Given the description of an element on the screen output the (x, y) to click on. 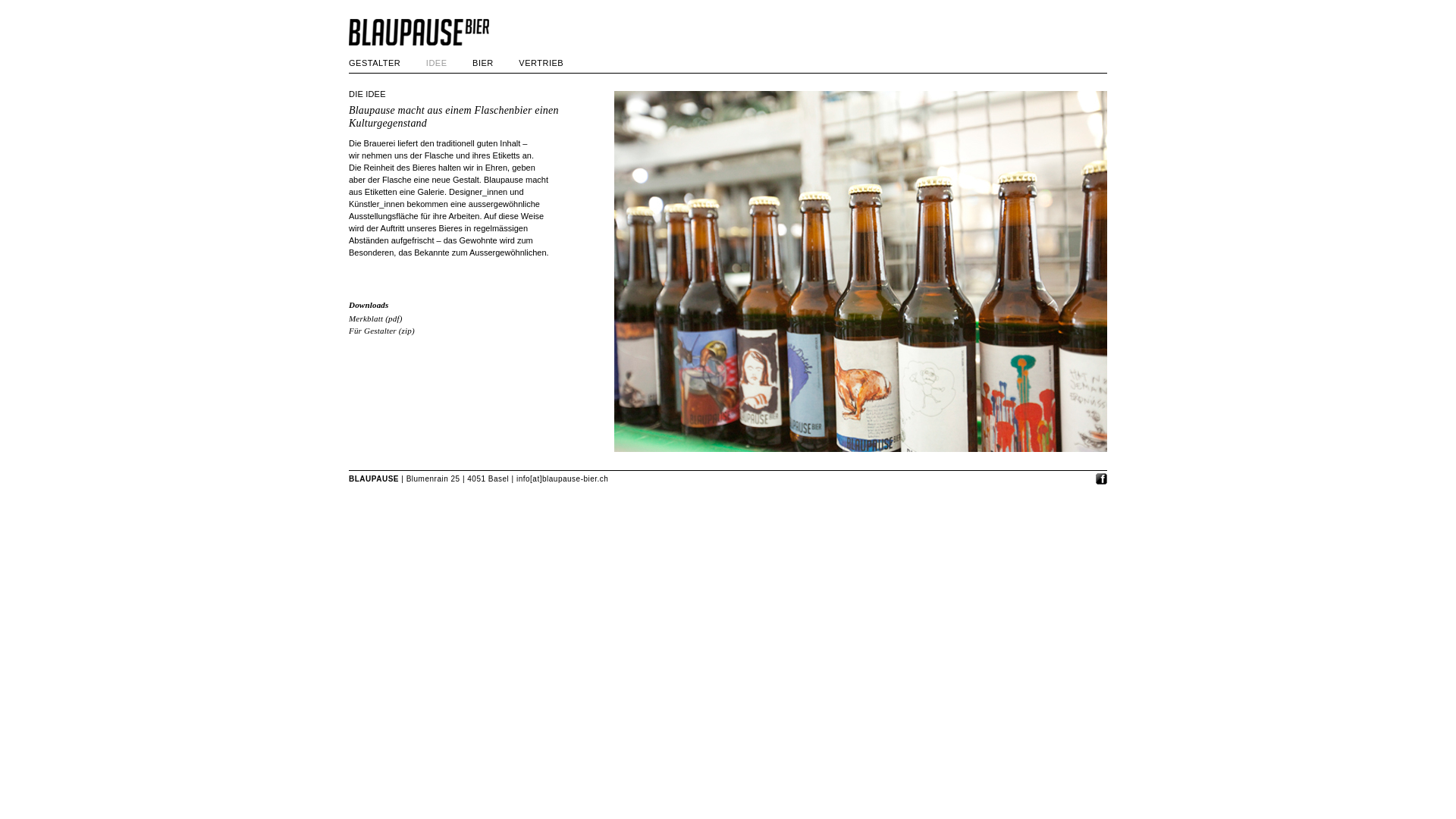
GESTALTER Element type: text (374, 62)
VERTRIEB Element type: text (540, 62)
info[at]blaupause-bier.ch Element type: text (562, 478)
IDEE Element type: text (436, 62)
BIER Element type: text (482, 62)
Merkblatt (pdf) Element type: text (375, 318)
